Given the description of an element on the screen output the (x, y) to click on. 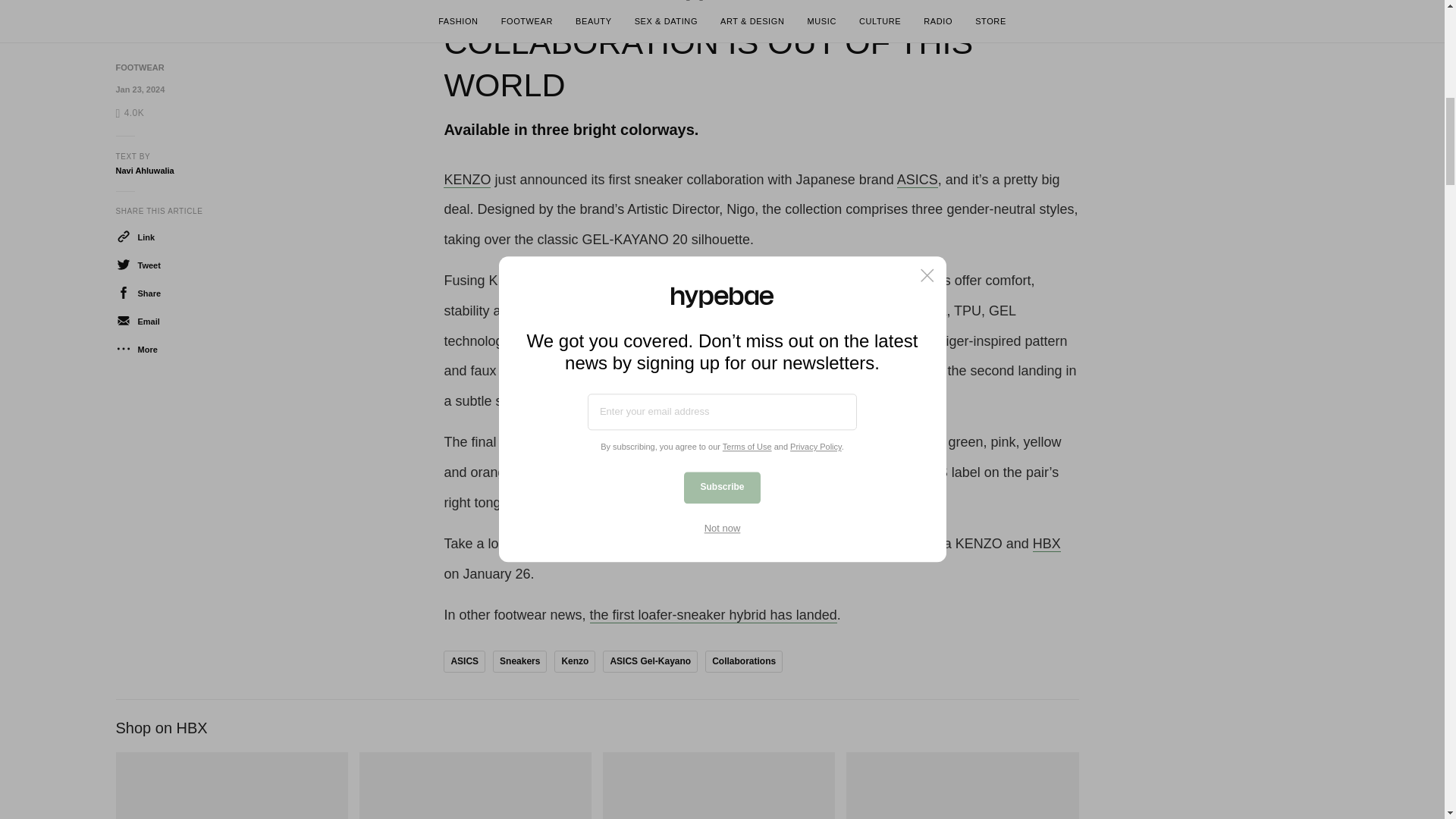
Collaborations (743, 661)
GEL-NYC (231, 785)
HBX (1046, 544)
ASICS (916, 179)
Sneakers (520, 661)
Asics x 8ON8 GEL-KAYANO 14 (718, 785)
Kenzo (574, 661)
KENZO (467, 179)
GEL-NIMBUS 9 (475, 785)
ASICS (464, 661)
ASICS Gel-Kayano (649, 661)
US5-S GEL-QUANTUM KINETIC (961, 785)
the first loafer-sneaker hybrid has landed (713, 615)
